Given the description of an element on the screen output the (x, y) to click on. 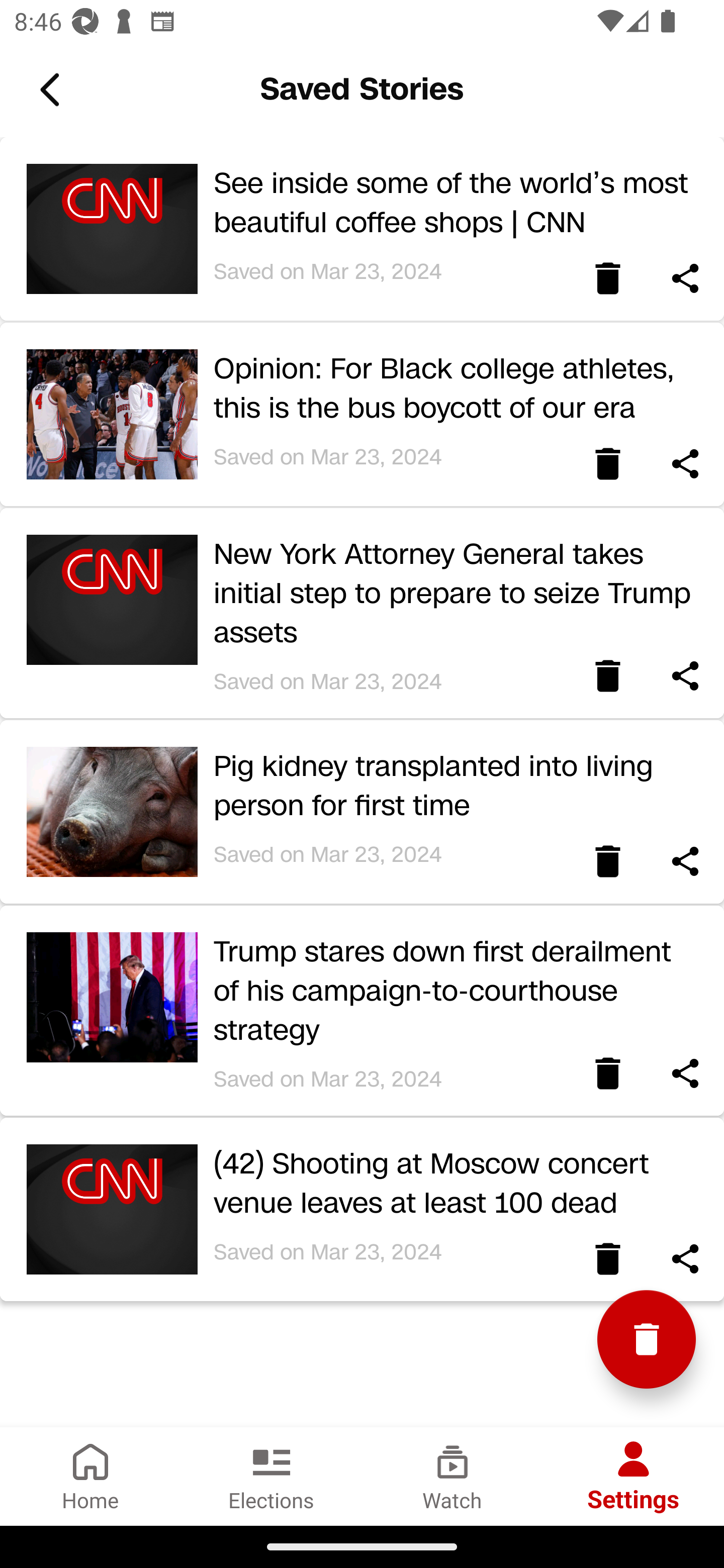
Back Button (52, 89)
Delete (607, 288)
Share (685, 288)
Delete (607, 474)
Share (685, 474)
Delete (607, 686)
Share (685, 686)
Delete (607, 871)
Share (685, 871)
Delete (607, 1084)
Share (685, 1084)
Delete (607, 1269)
Share (685, 1269)
Delete (646, 1339)
Home (90, 1475)
Elections (271, 1475)
Watch (452, 1475)
